Given the description of an element on the screen output the (x, y) to click on. 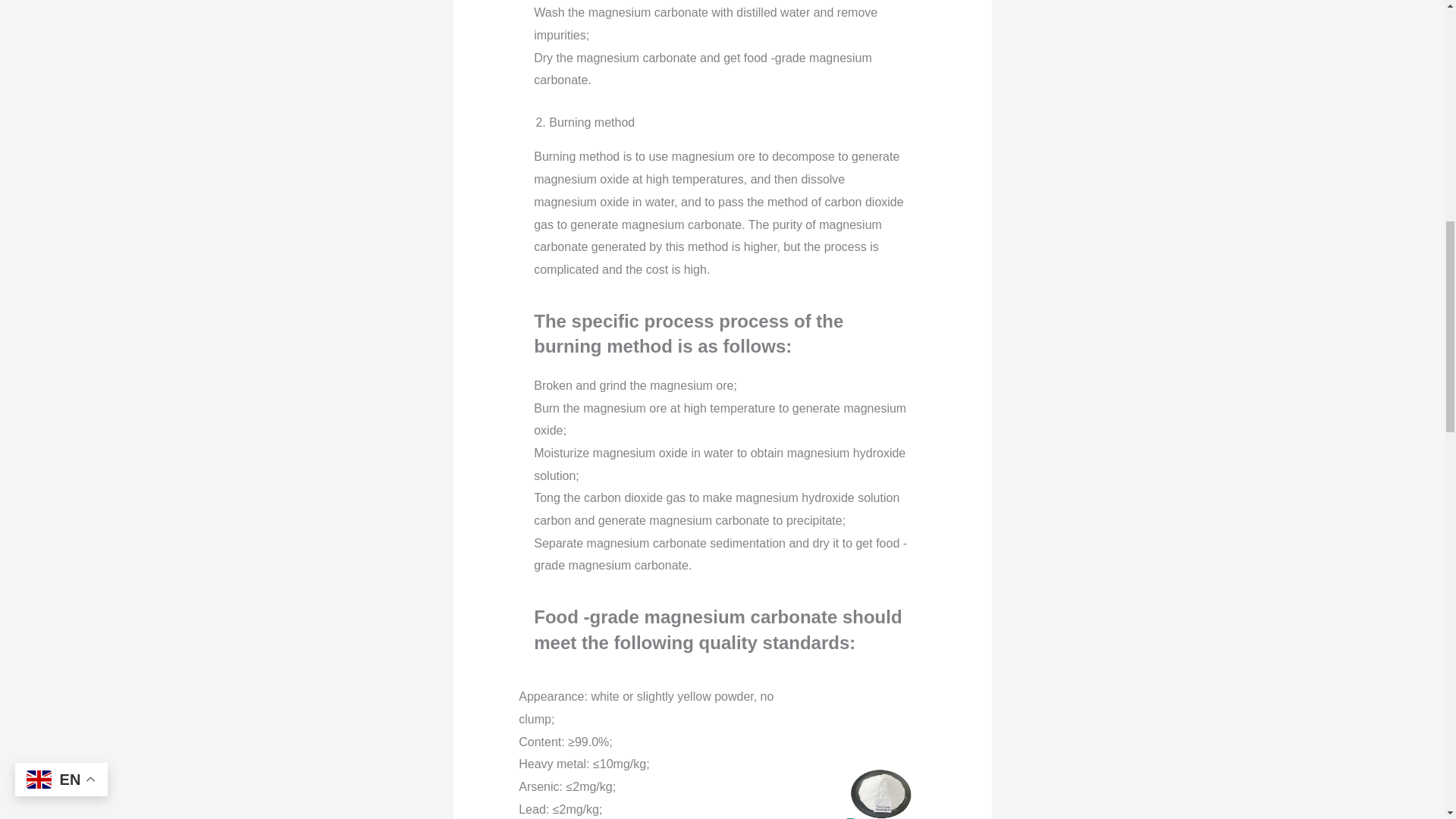
food grade magnesium carbonate (880, 785)
